Given the description of an element on the screen output the (x, y) to click on. 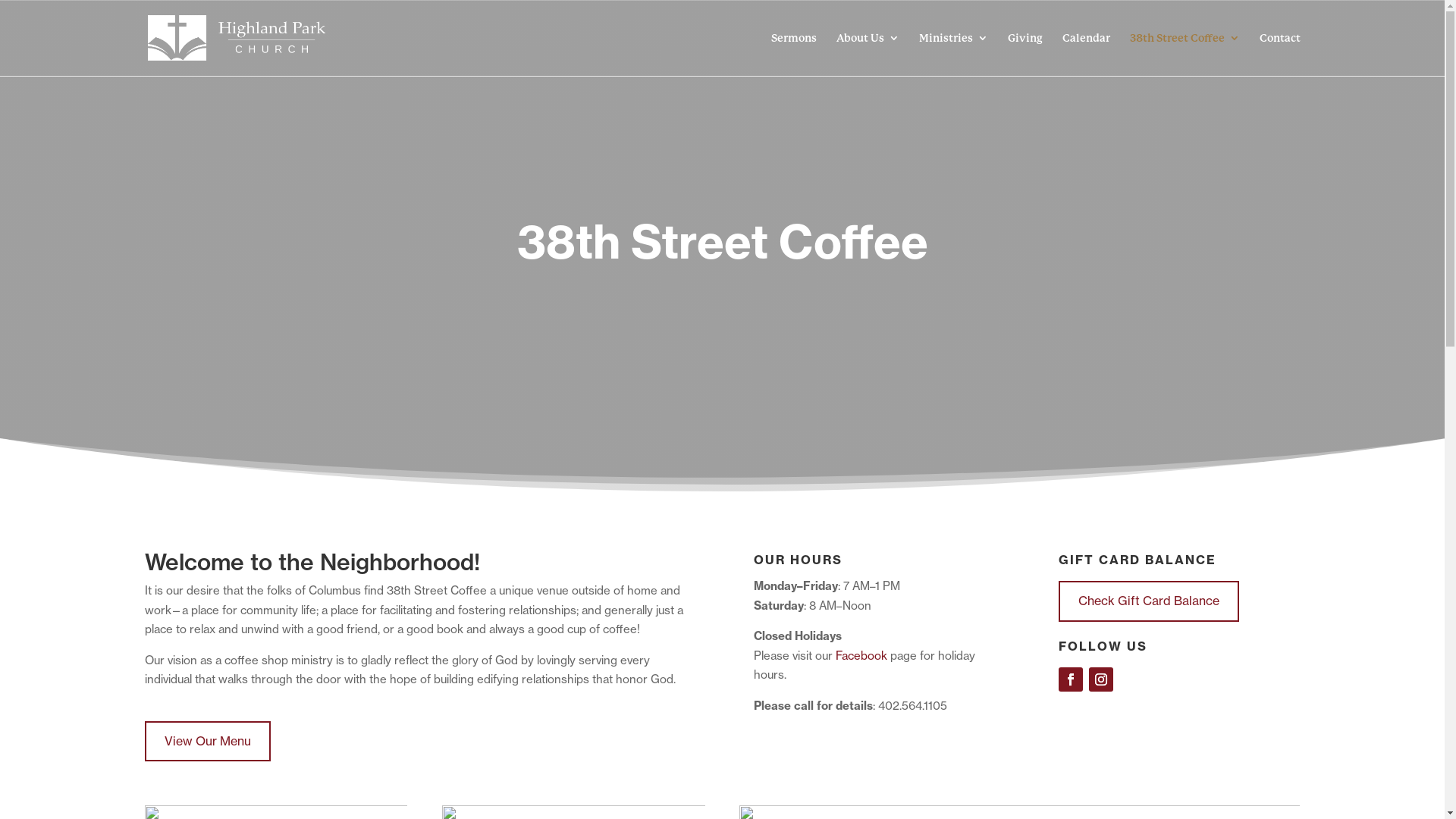
Giving Element type: text (1024, 53)
Ministries Element type: text (953, 53)
Check Gift Card Balance Element type: text (1148, 600)
Contact Element type: text (1278, 53)
About Us Element type: text (866, 53)
View Our Menu Element type: text (206, 740)
Sermons Element type: text (792, 53)
38th Street Coffee Element type: text (1184, 53)
Calendar Element type: text (1085, 53)
Follow on Facebook Element type: hover (1070, 679)
Follow on Instagram Element type: hover (1100, 679)
Facebook Element type: text (861, 655)
